Given the description of an element on the screen output the (x, y) to click on. 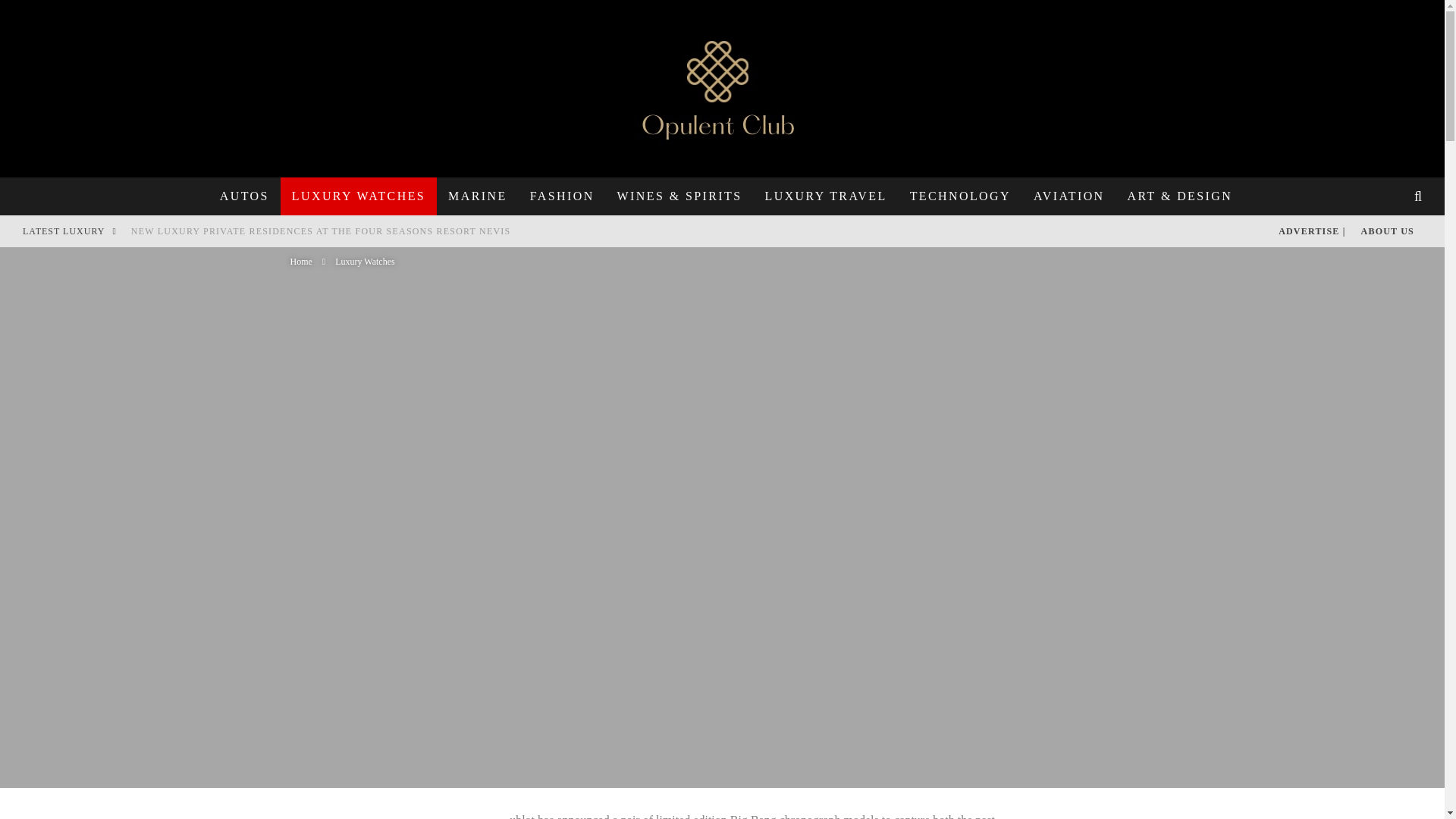
AUTOS (244, 196)
LUXURY WATCHES (358, 196)
